Given the description of an element on the screen output the (x, y) to click on. 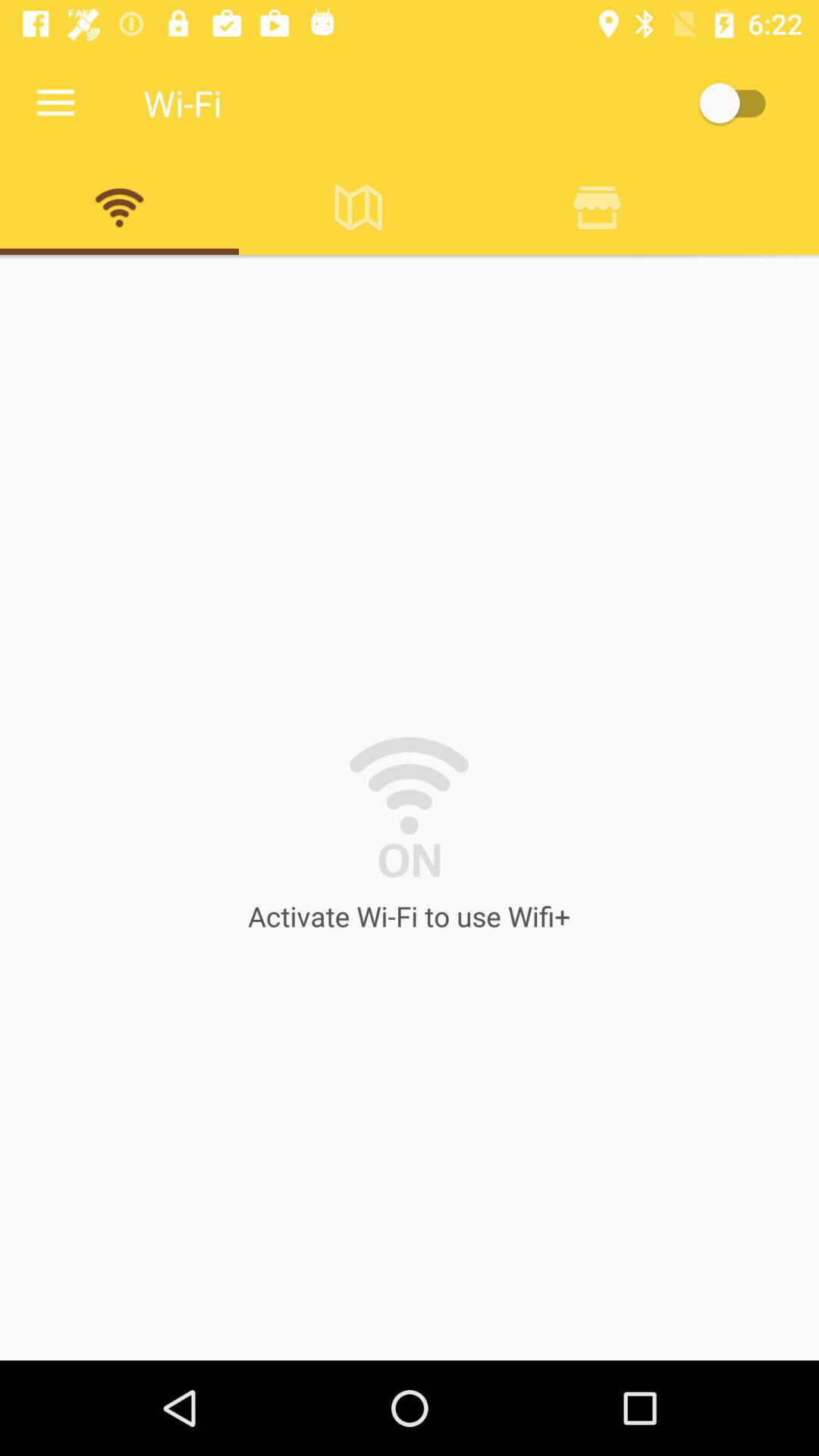
switch wifi (739, 103)
